Given the description of an element on the screen output the (x, y) to click on. 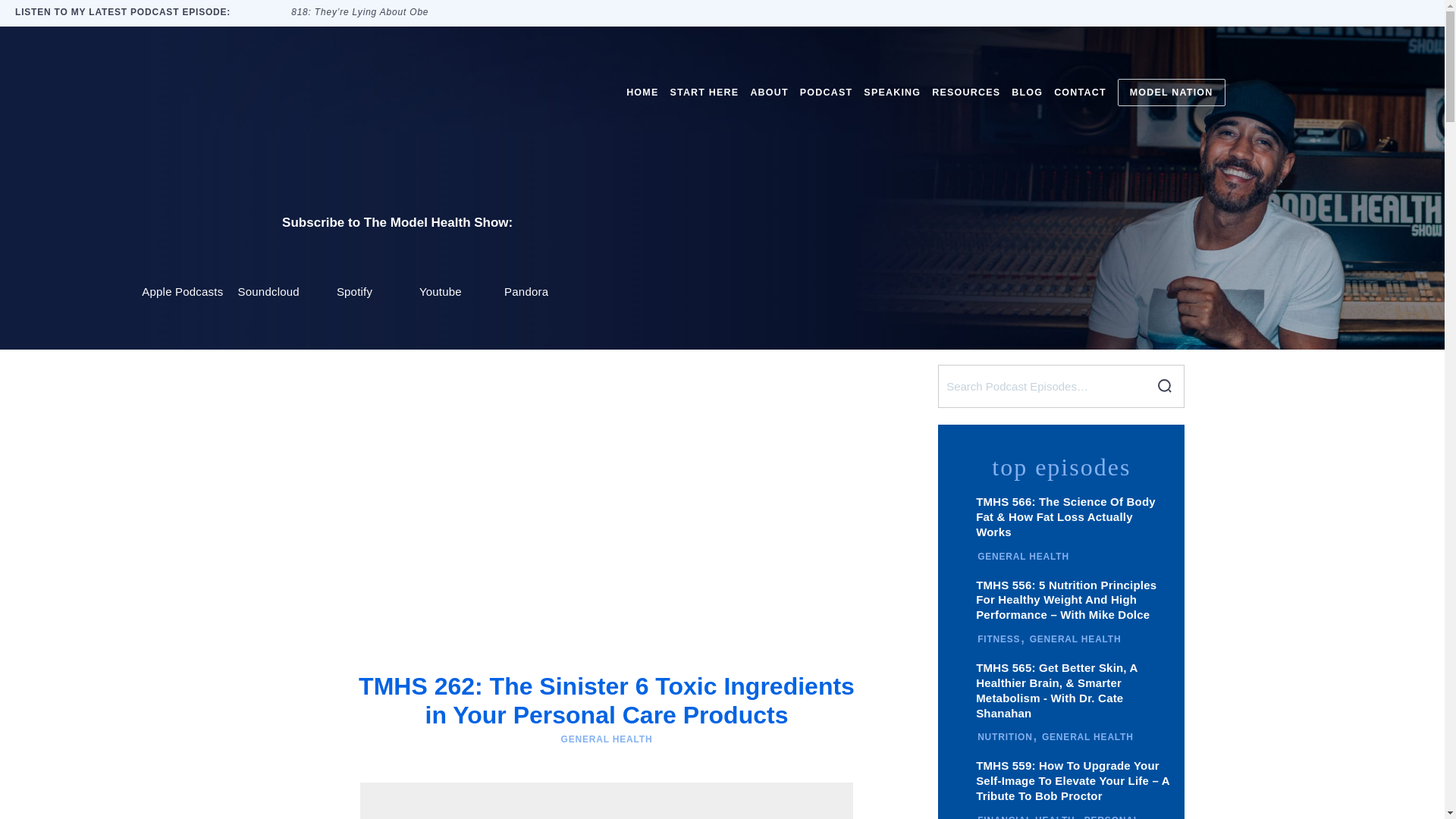
SPEAKING (891, 91)
BLOG (1026, 91)
RESOURCES (965, 91)
MODEL NATION (1171, 92)
GENERAL HEALTH (606, 738)
Apple Podcasts (182, 265)
ABOUT (768, 91)
CONTACT (1080, 91)
PODCAST (826, 91)
START HERE (703, 91)
